Given the description of an element on the screen output the (x, y) to click on. 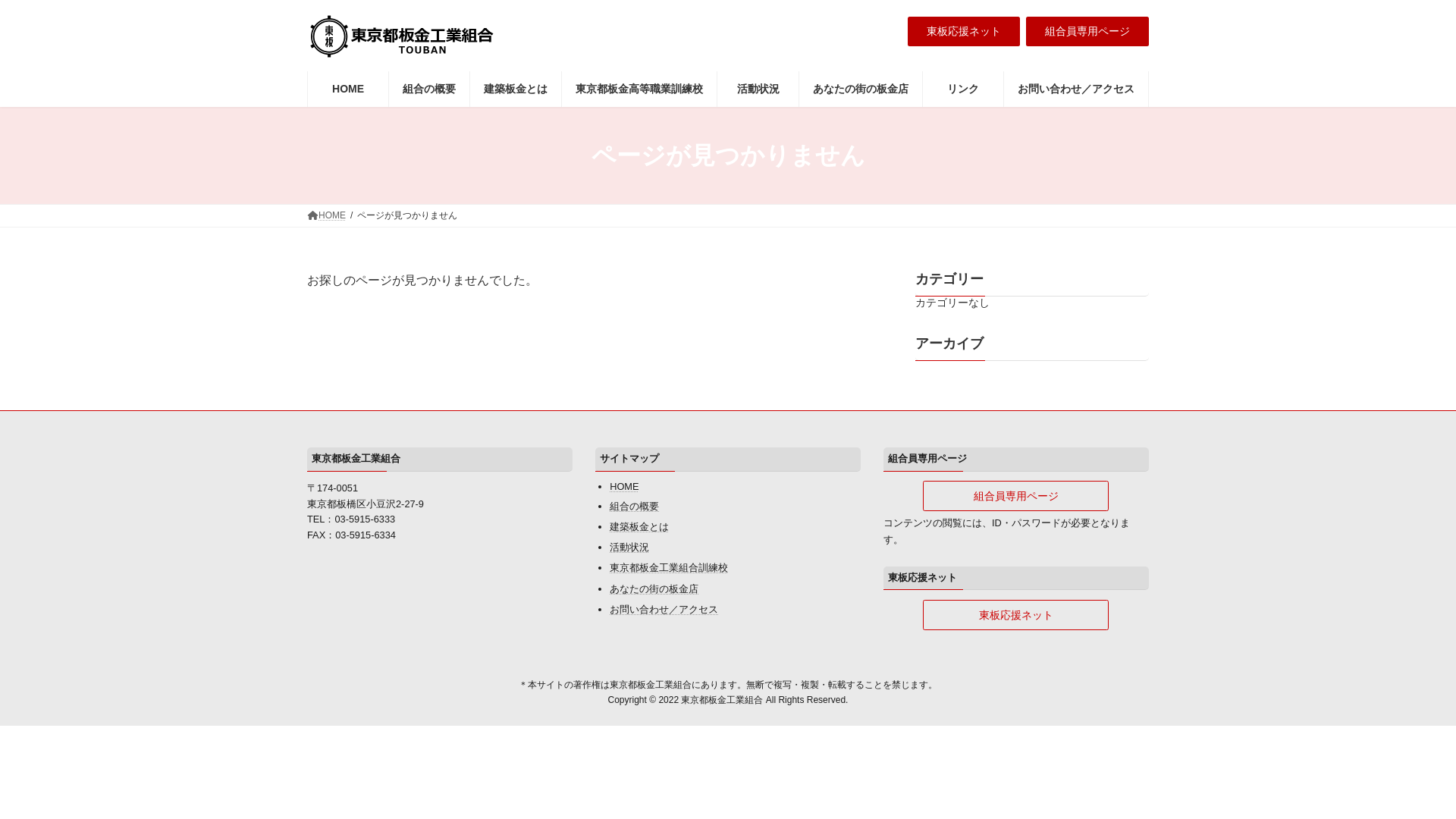
HOME (624, 486)
HOME (326, 214)
HOME (347, 89)
